Given the description of an element on the screen output the (x, y) to click on. 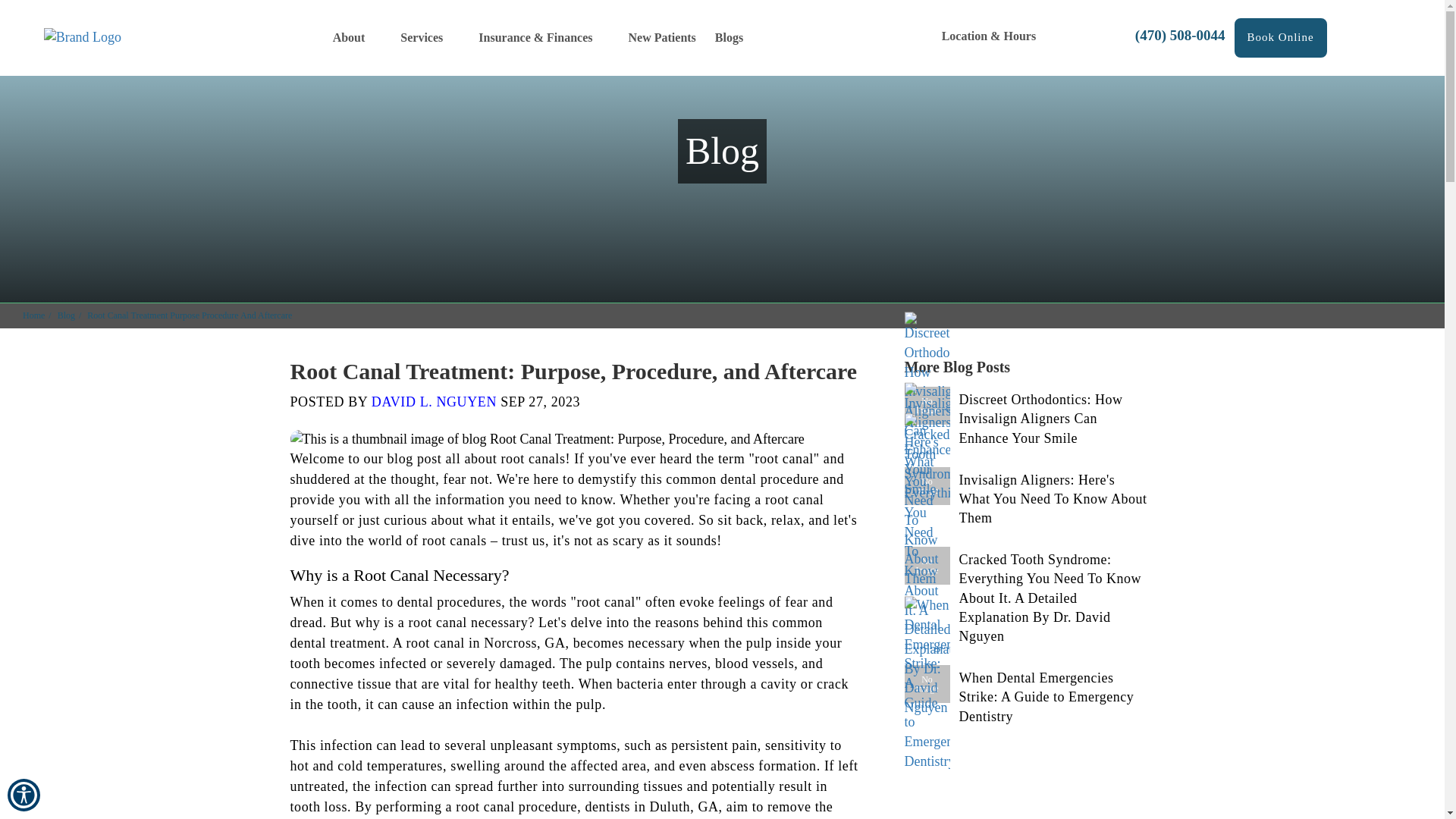
Brand Logo (81, 37)
Blogs (728, 37)
Book Online (1280, 37)
Services (430, 37)
About (357, 37)
New Patients (661, 37)
